Given the description of an element on the screen output the (x, y) to click on. 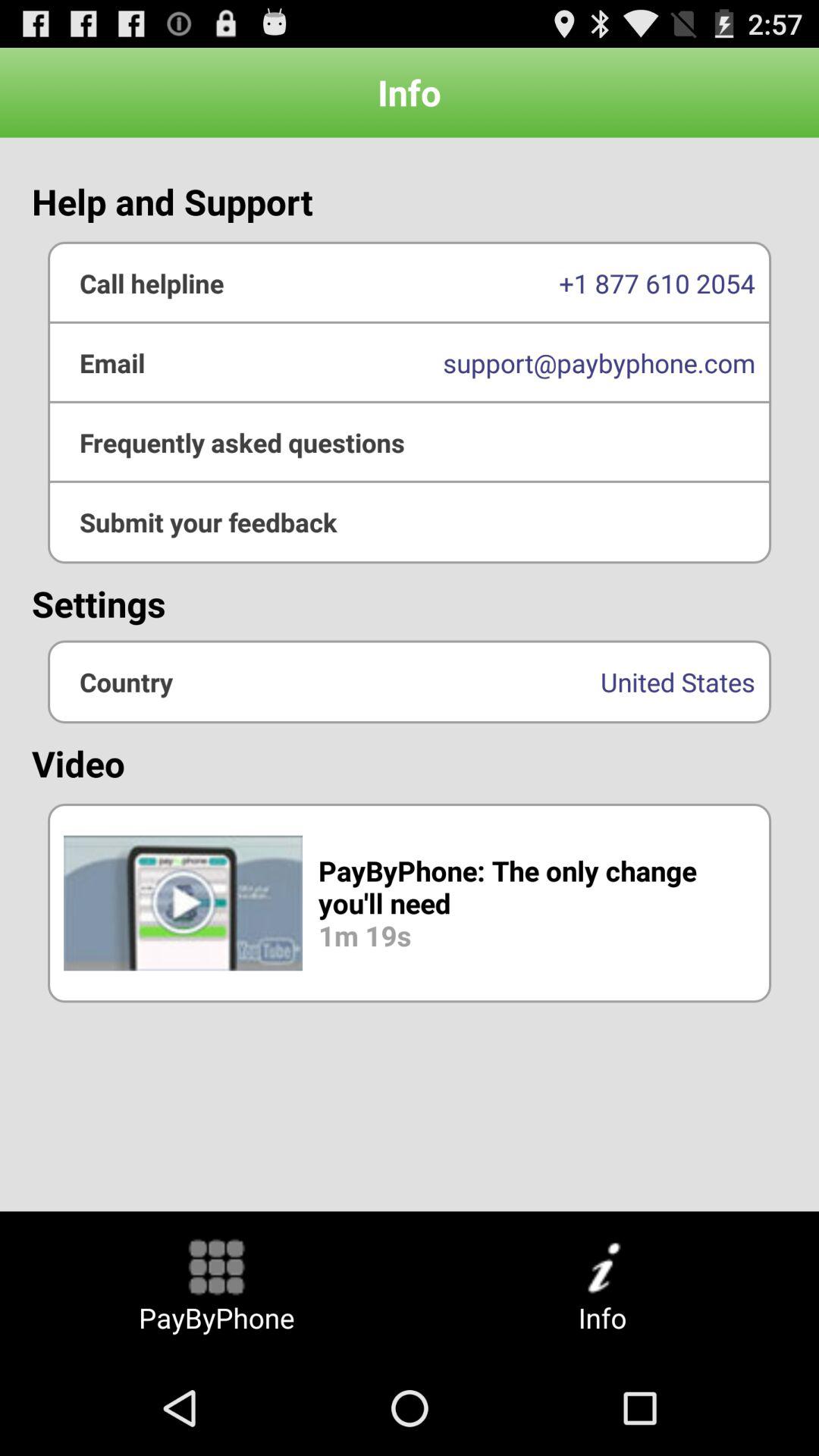
click paybyphone the only item (409, 902)
